Given the description of an element on the screen output the (x, y) to click on. 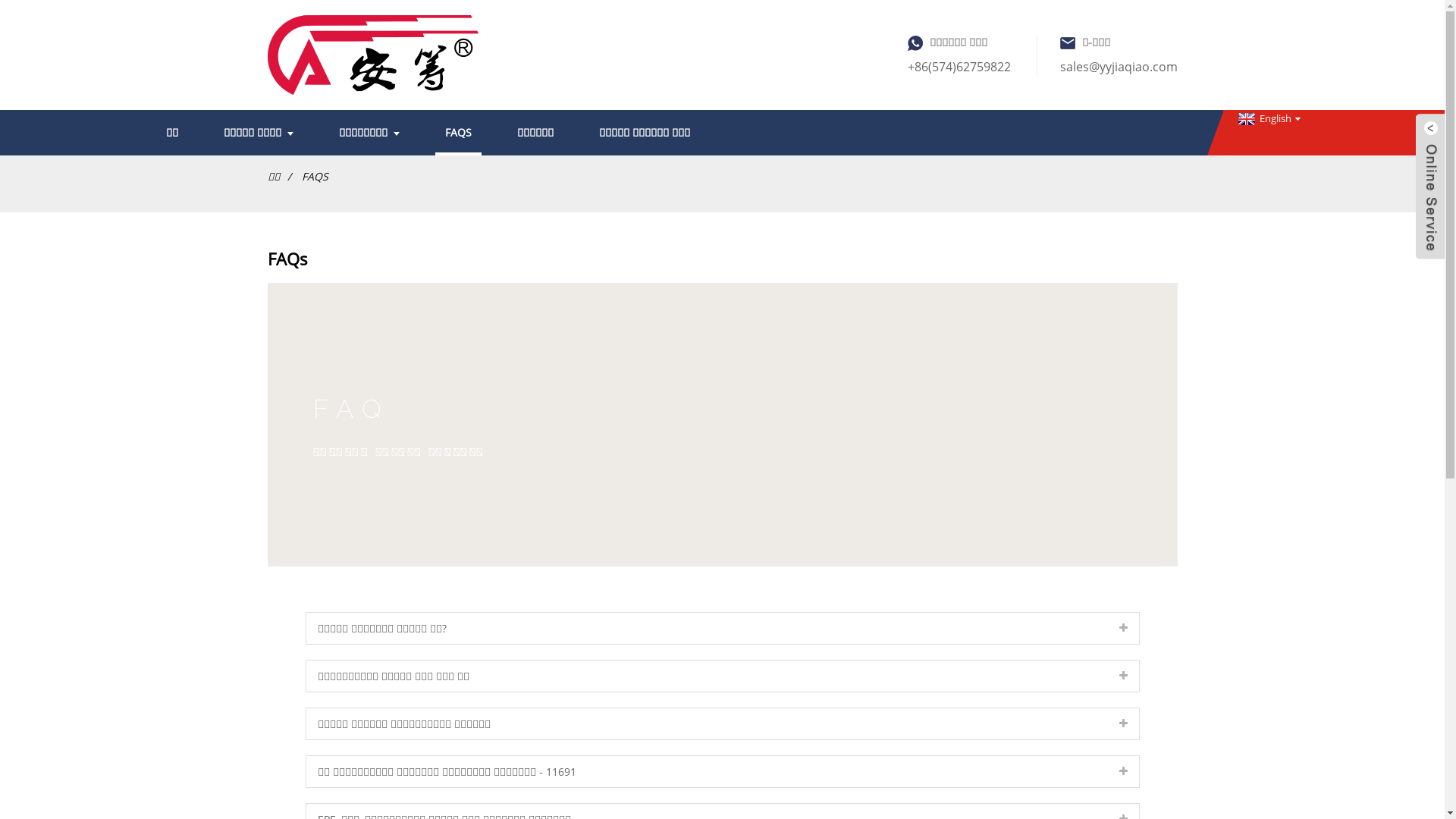
FAQS Element type: text (458, 132)
sales@yyjiaqiao.com Element type: text (1118, 66)
English Element type: text (1267, 118)
FAQS Element type: text (314, 176)
